Given the description of an element on the screen output the (x, y) to click on. 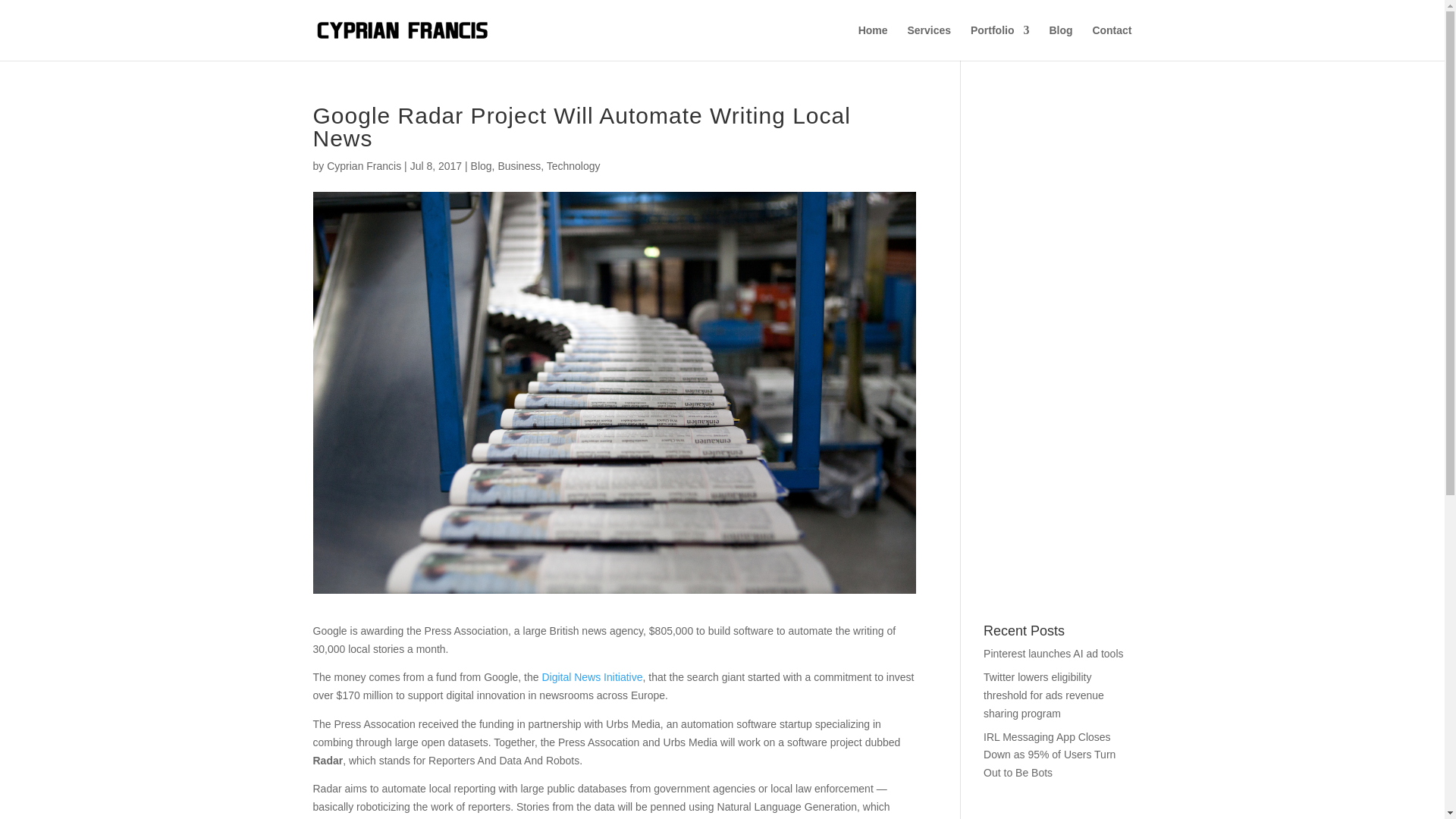
Portfolio (1000, 42)
Technology (573, 165)
Blog (481, 165)
Business (518, 165)
Digital News Initiative (591, 676)
Pinterest launches AI ad tools (1053, 653)
Contact (1111, 42)
Posts by Cyprian Francis (363, 165)
Cyprian Francis (363, 165)
Services (928, 42)
